Given the description of an element on the screen output the (x, y) to click on. 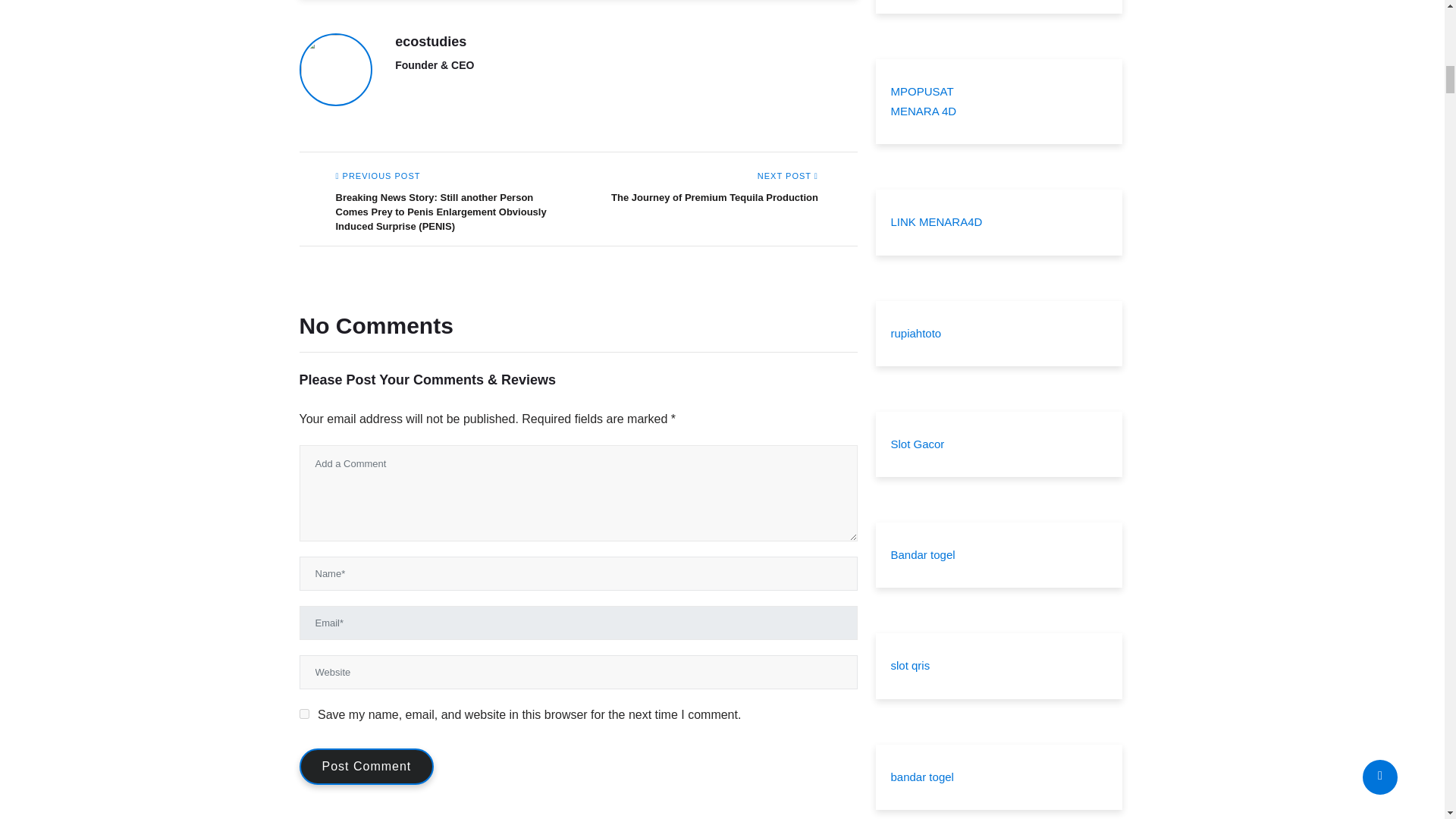
Post Comment (365, 766)
yes (303, 714)
Post Comment (365, 766)
